Given the description of an element on the screen output the (x, y) to click on. 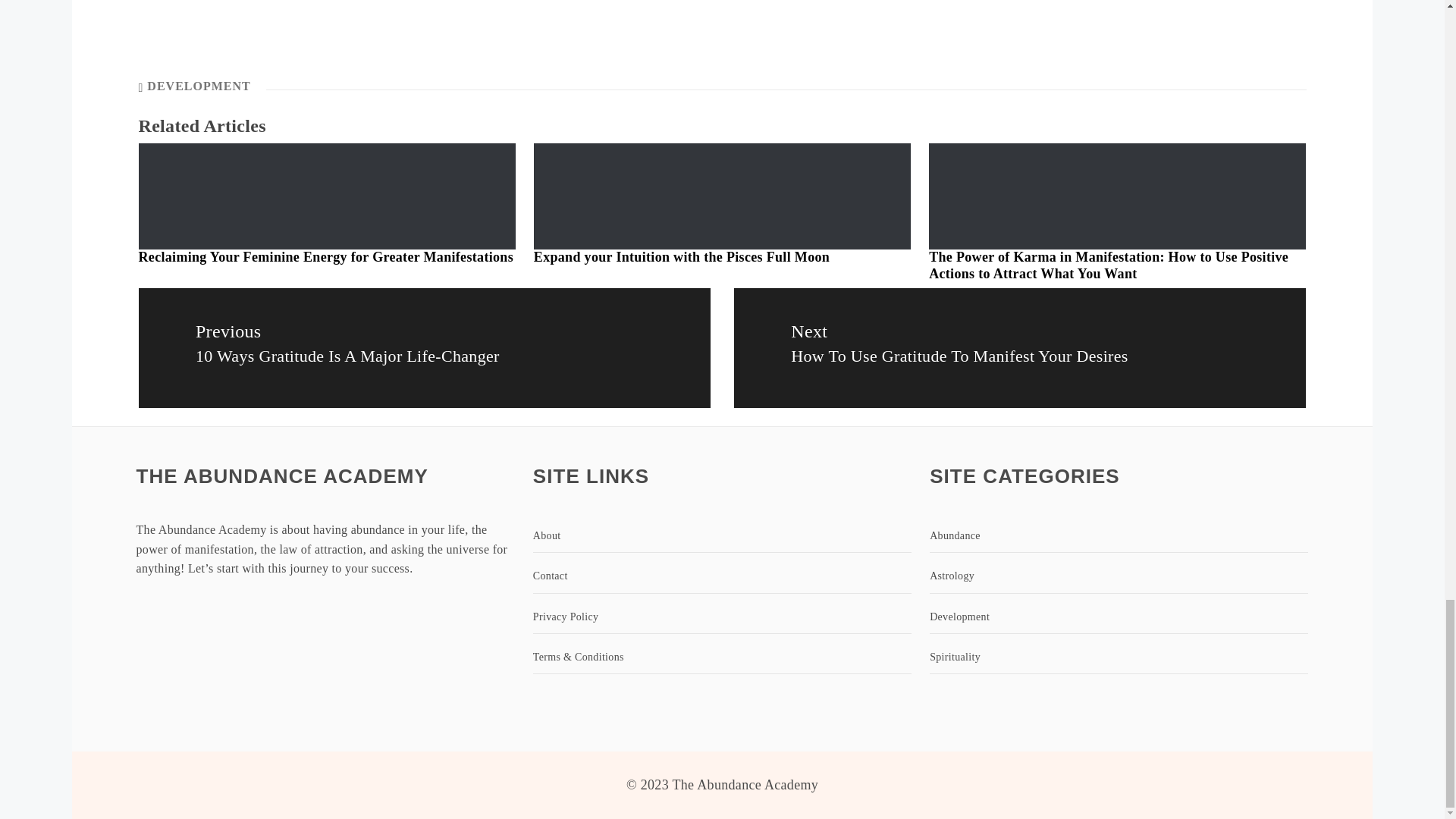
Contact (721, 576)
Spirituality (1118, 657)
Development (1118, 617)
About (721, 536)
Astrology (1118, 576)
Privacy Policy (721, 617)
Expand your Intuition with the Pisces Full Moon (681, 256)
DEVELOPMENT (198, 85)
Reclaiming Your Feminine Energy for Greater Manifestations (325, 256)
Abundance (1118, 536)
